Given the description of an element on the screen output the (x, y) to click on. 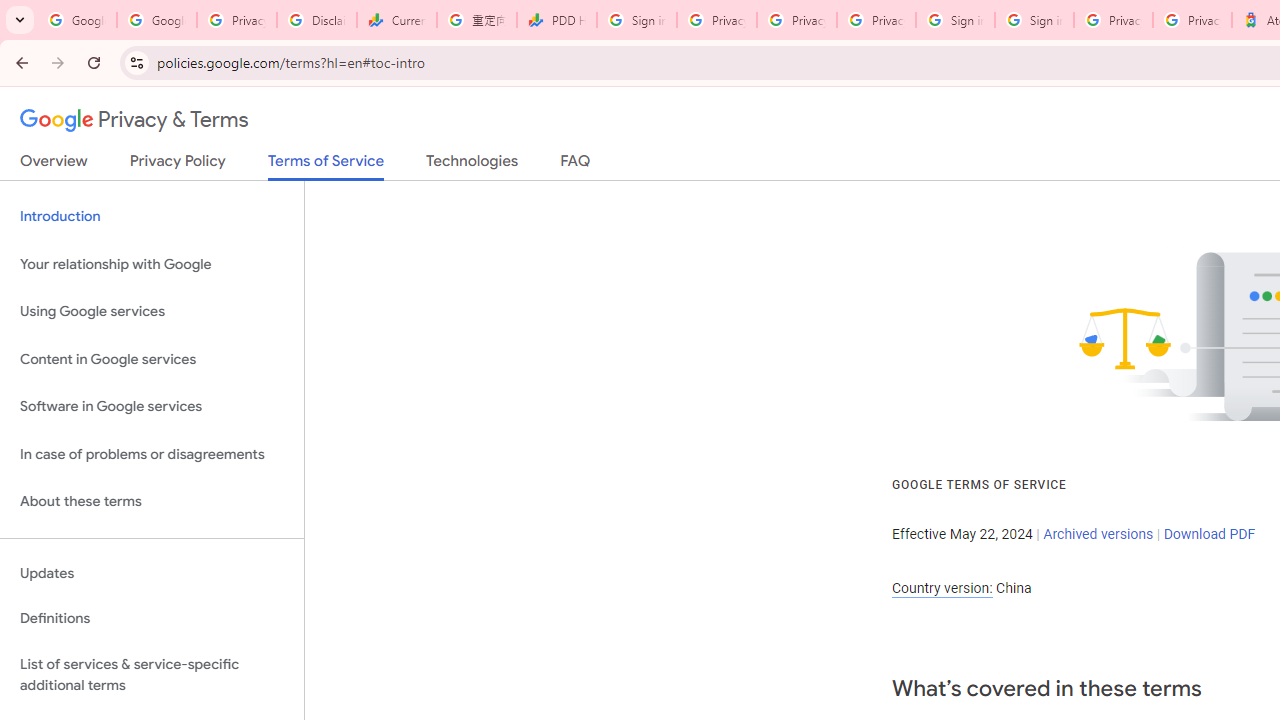
Software in Google services (152, 407)
Archived versions (1098, 533)
About these terms (152, 502)
Google Workspace Admin Community (76, 20)
Using Google services (152, 312)
Country version: (942, 588)
In case of problems or disagreements (152, 453)
Sign in - Google Accounts (636, 20)
